Given the description of an element on the screen output the (x, y) to click on. 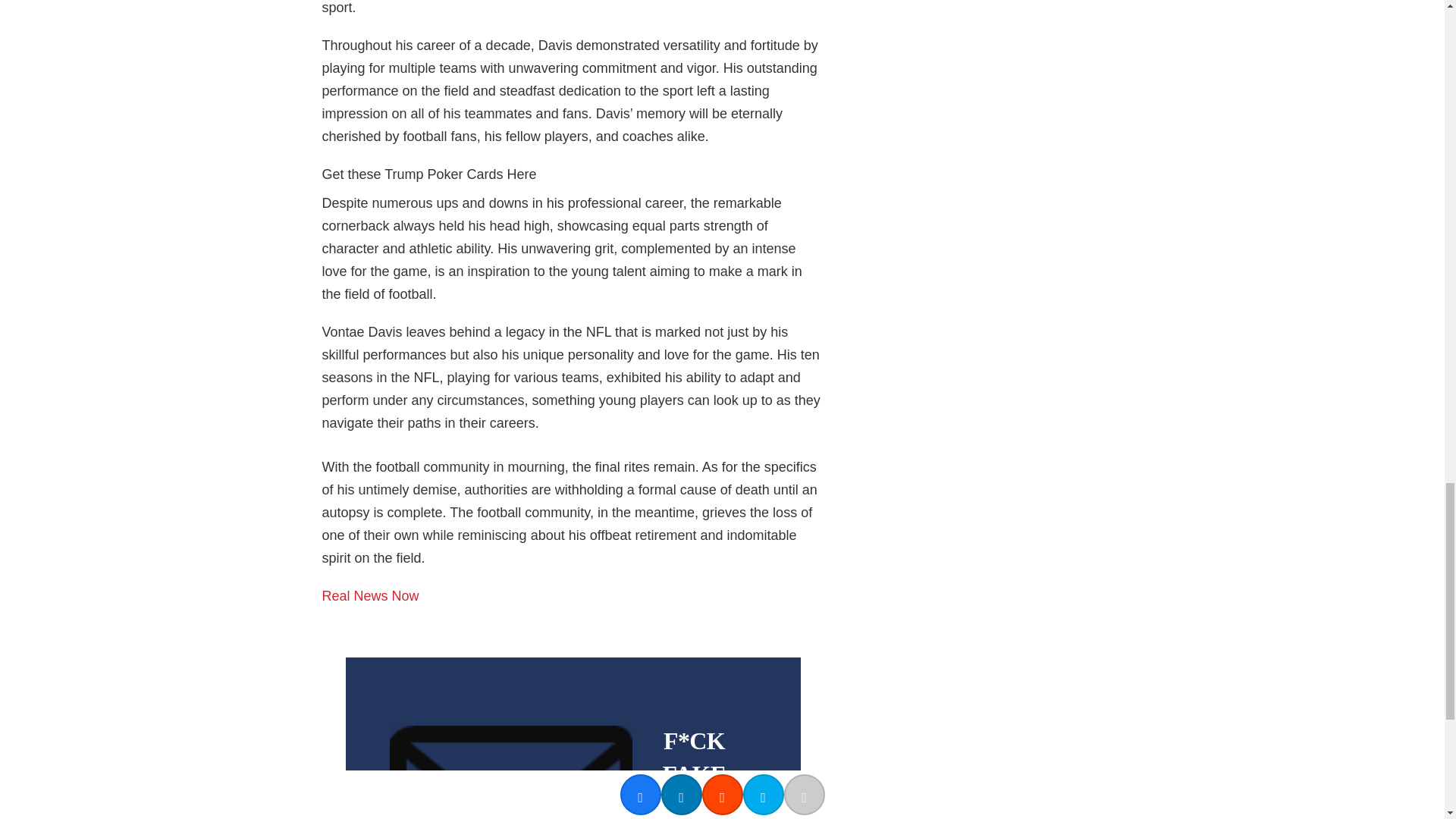
Real News Now (370, 595)
